Given the description of an element on the screen output the (x, y) to click on. 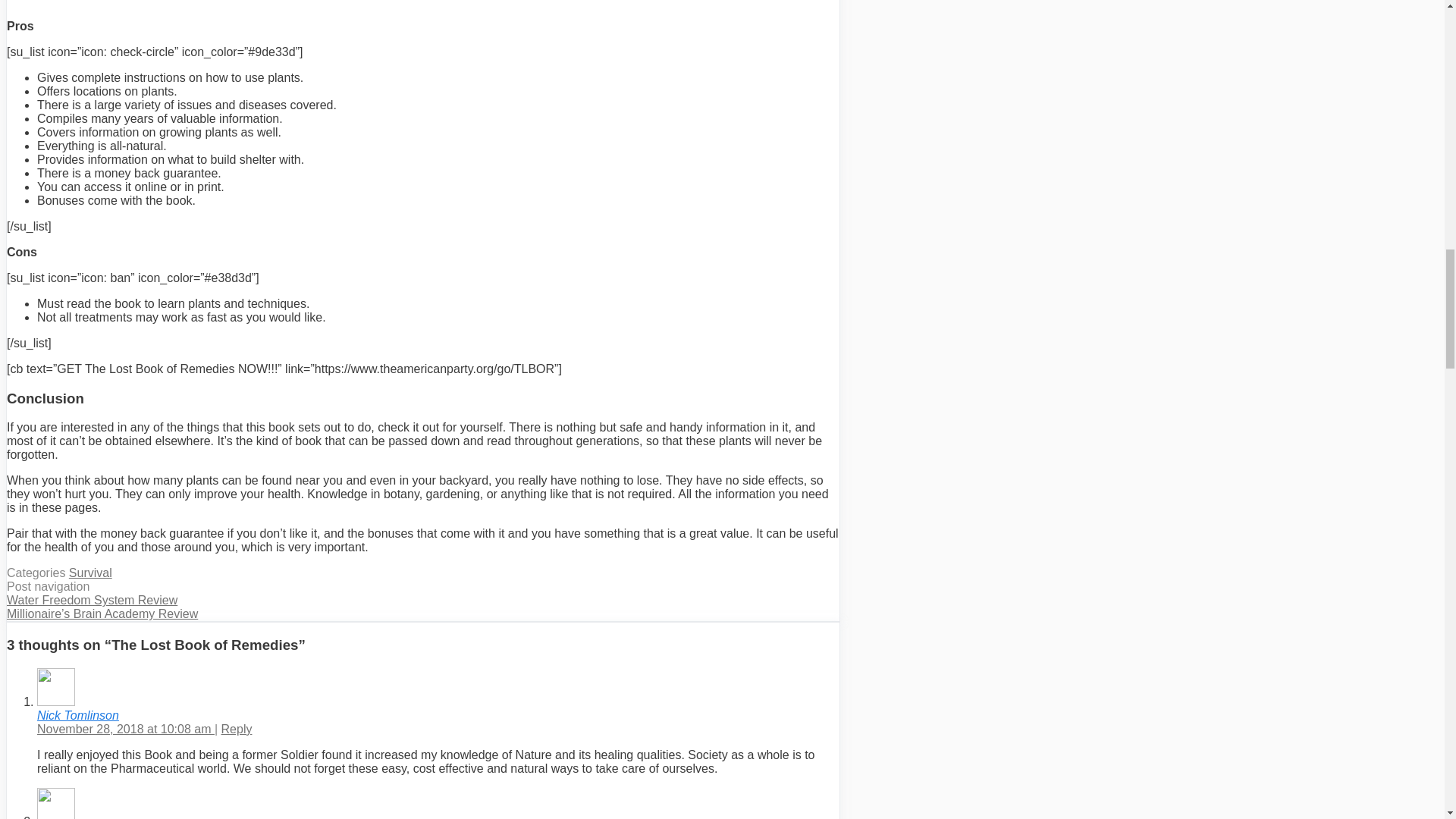
Reply (236, 728)
Water Freedom System Review (92, 599)
Survival (90, 572)
Nick Tomlinson (78, 715)
Next (102, 613)
Previous (92, 599)
November 28, 2018 at 10:08 am (125, 728)
